Given the description of an element on the screen output the (x, y) to click on. 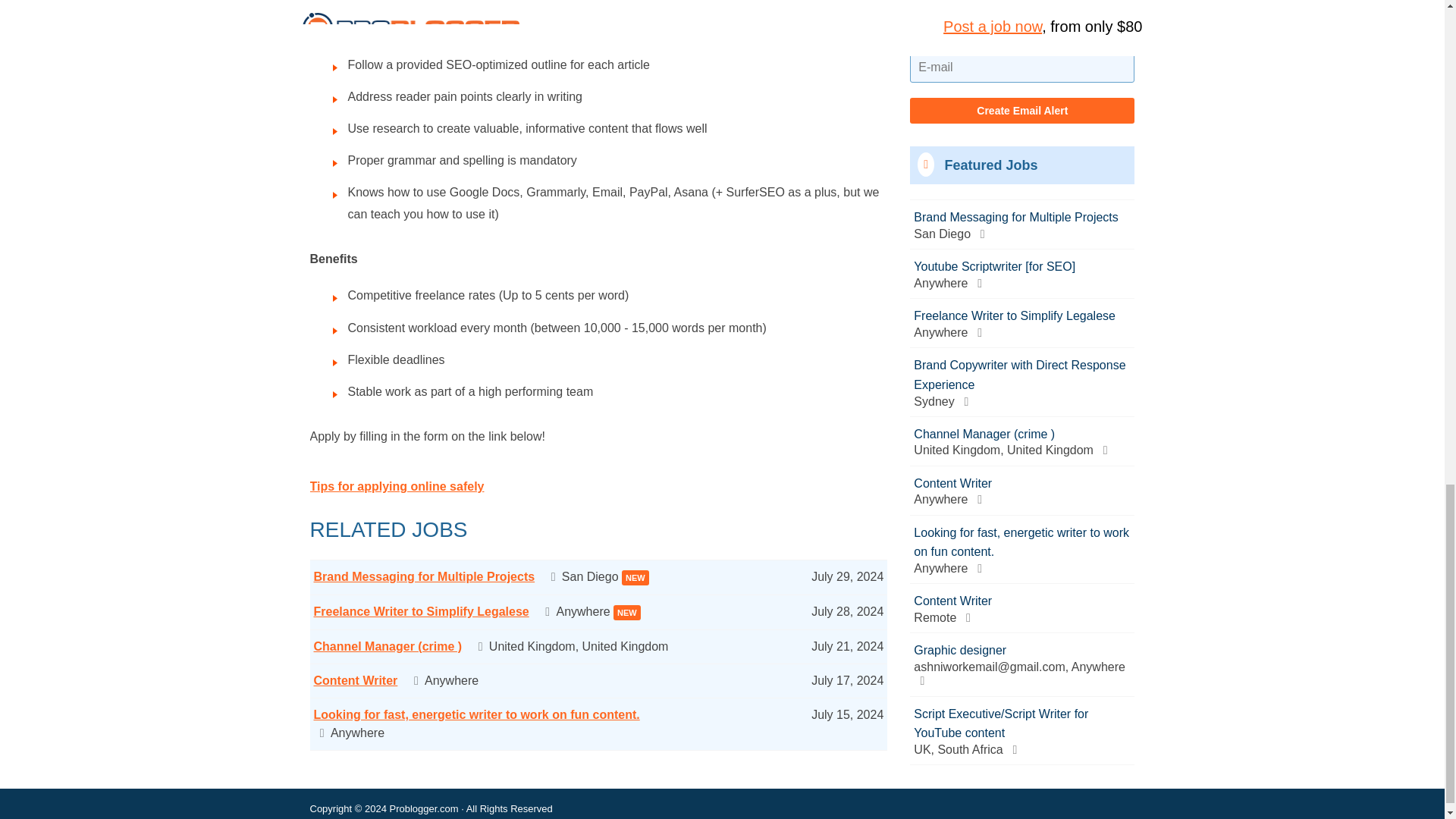
Tips for applying online safely (395, 486)
Brand Messaging for Multiple Projects (424, 576)
Freelance Writer to Simplify Legalese (421, 611)
